Given the description of an element on the screen output the (x, y) to click on. 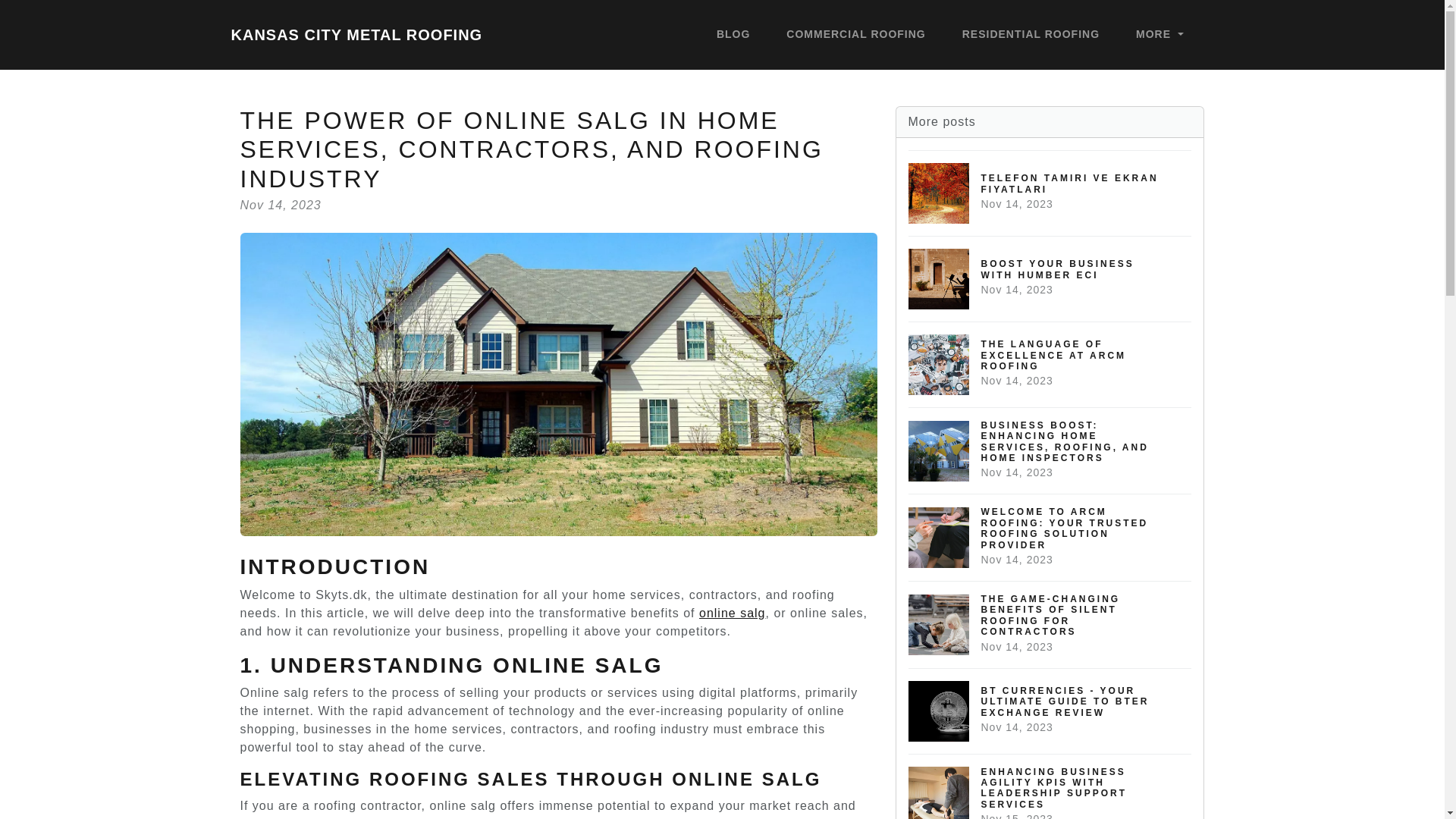
KANSAS CITY METAL ROOFING (355, 34)
MORE (1159, 34)
RESIDENTIAL ROOFING (1050, 364)
online salg (1030, 34)
COMMERCIAL ROOFING (1050, 192)
BLOG (731, 612)
